Given the description of an element on the screen output the (x, y) to click on. 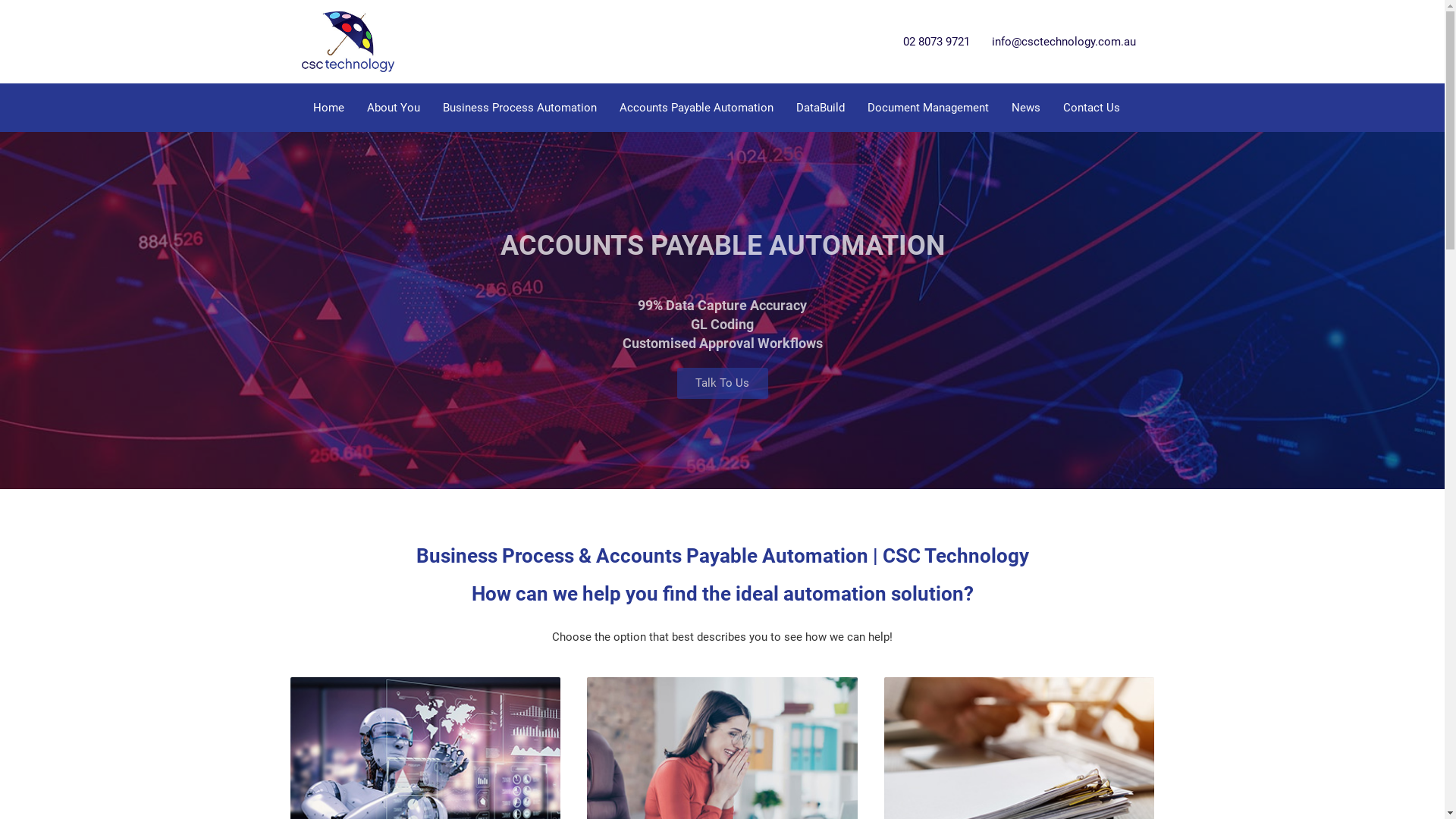
DataBuild Element type: text (819, 107)
Contact Us Element type: text (1090, 107)
02 8073 9721 Element type: text (935, 41)
Talk To Us Element type: text (721, 382)
About You Element type: text (392, 107)
Accounts Payable Automation Element type: text (696, 107)
Home Element type: text (328, 107)
info@csctechnology.com.au Element type: text (1063, 41)
CSC Technology Element type: hover (347, 40)
Business Process Automation Element type: text (518, 107)
News Element type: text (1025, 107)
Document Management Element type: text (927, 107)
